Given the description of an element on the screen output the (x, y) to click on. 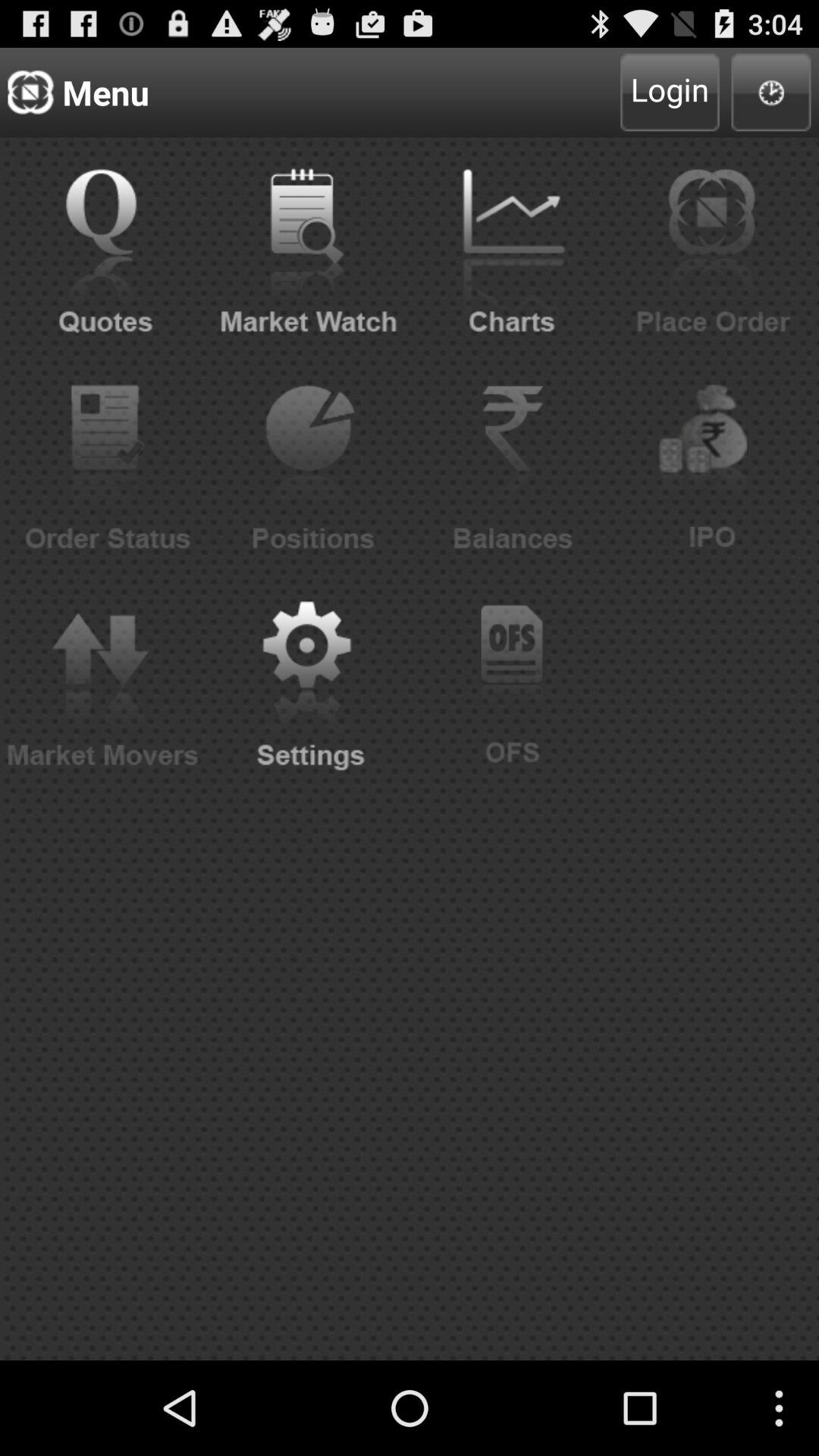
launch the item next to login button (771, 92)
